Given the description of an element on the screen output the (x, y) to click on. 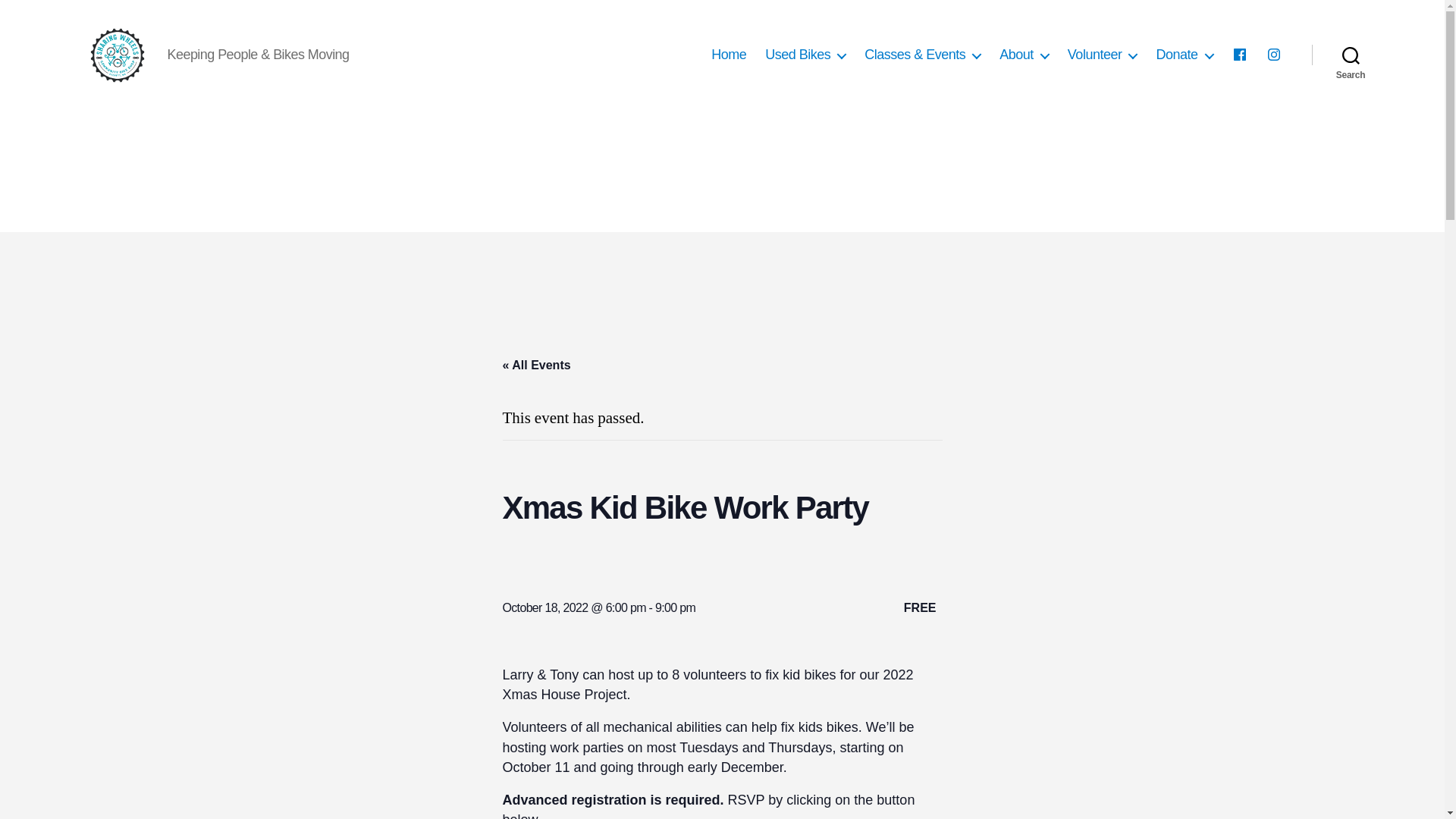
Search (1350, 55)
Used Bikes (805, 54)
Donate (1184, 54)
Home (728, 54)
About (1023, 54)
Volunteer (1102, 54)
